Given the description of an element on the screen output the (x, y) to click on. 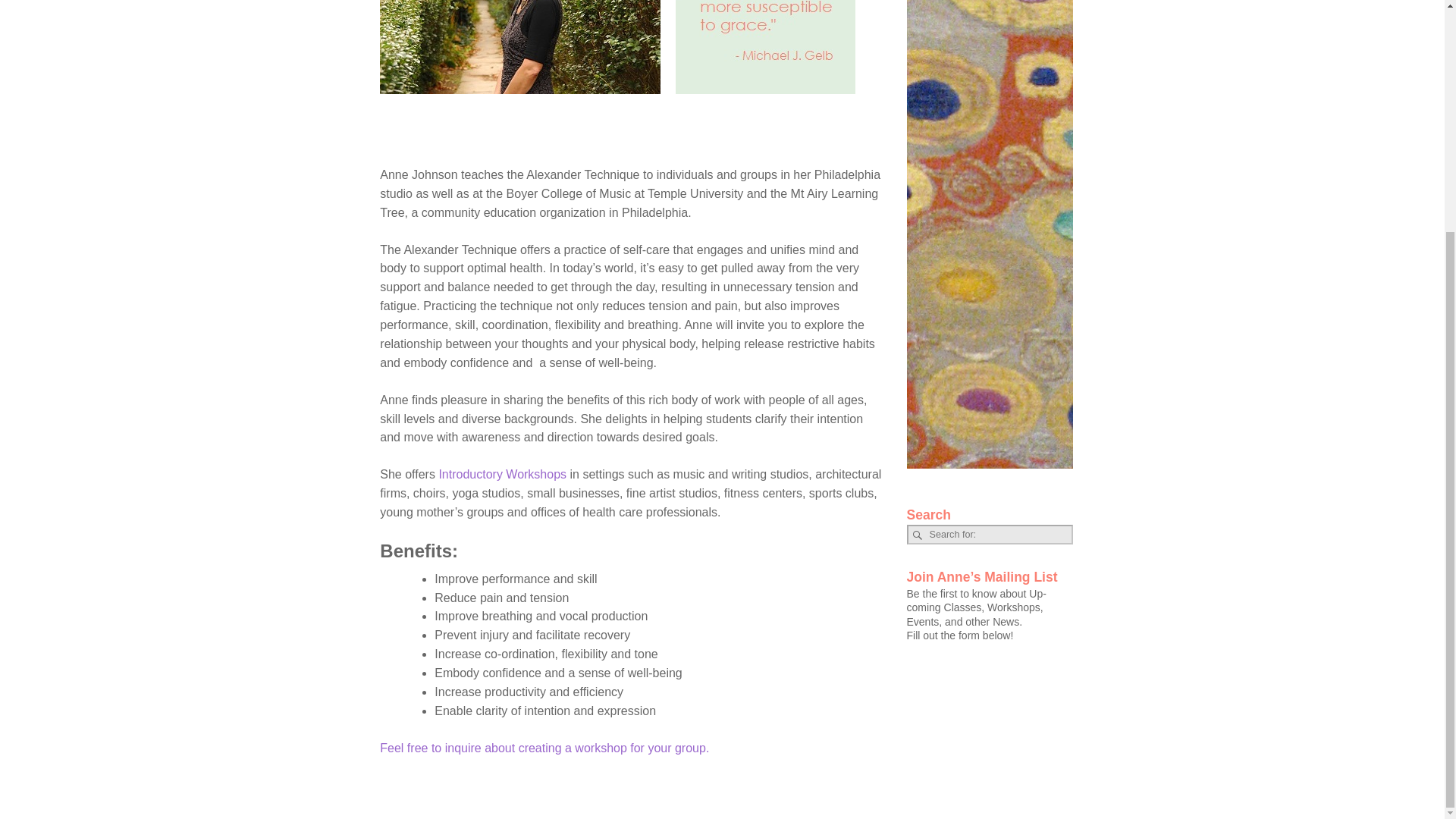
Anne Johnson (520, 47)
Introductory Workshops (502, 473)
